Given the description of an element on the screen output the (x, y) to click on. 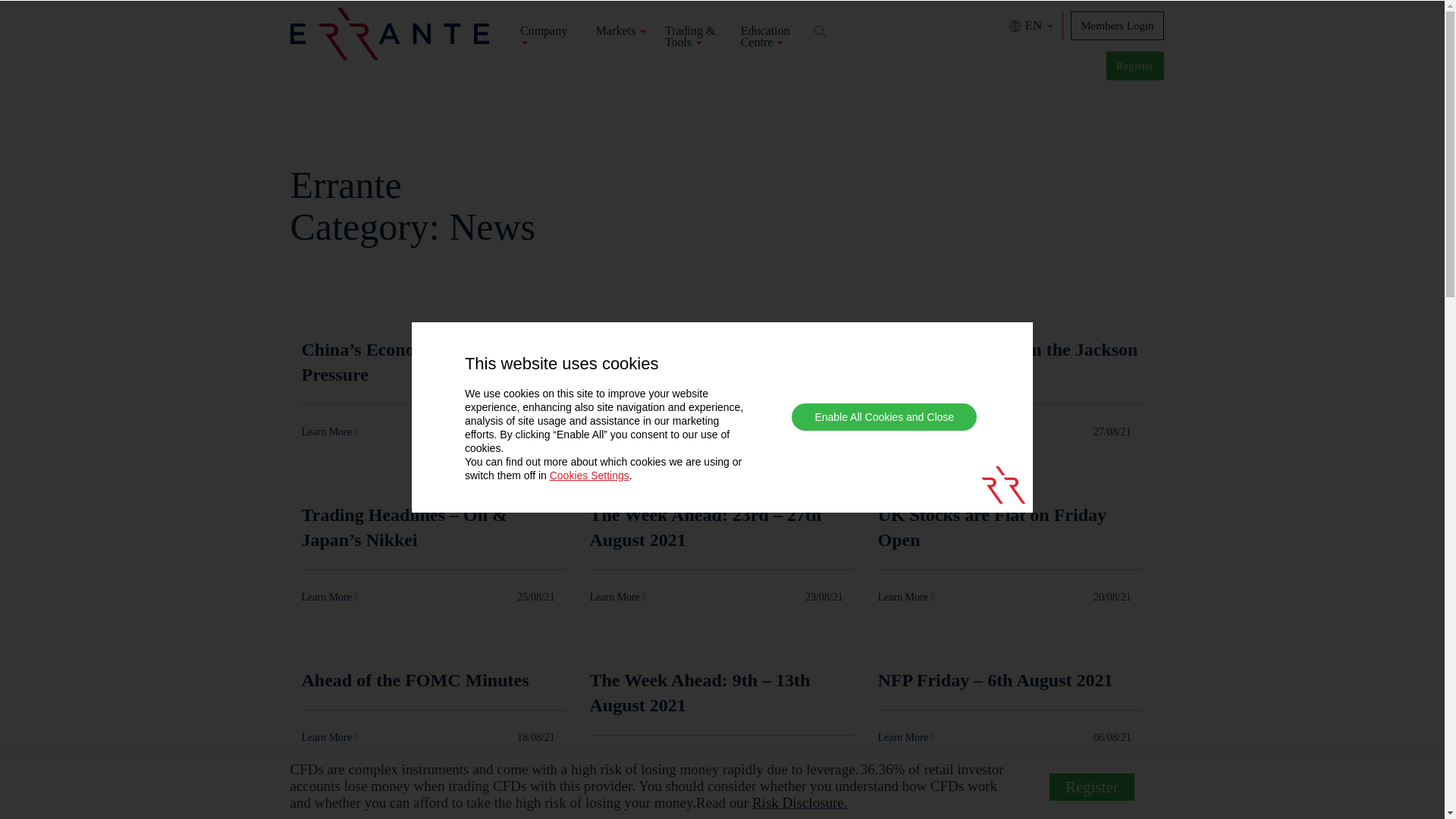
Register (1134, 65)
Learn More (329, 431)
Education Centre (769, 36)
Company (548, 36)
Markets (620, 30)
Members Login (1116, 24)
